Given the description of an element on the screen output the (x, y) to click on. 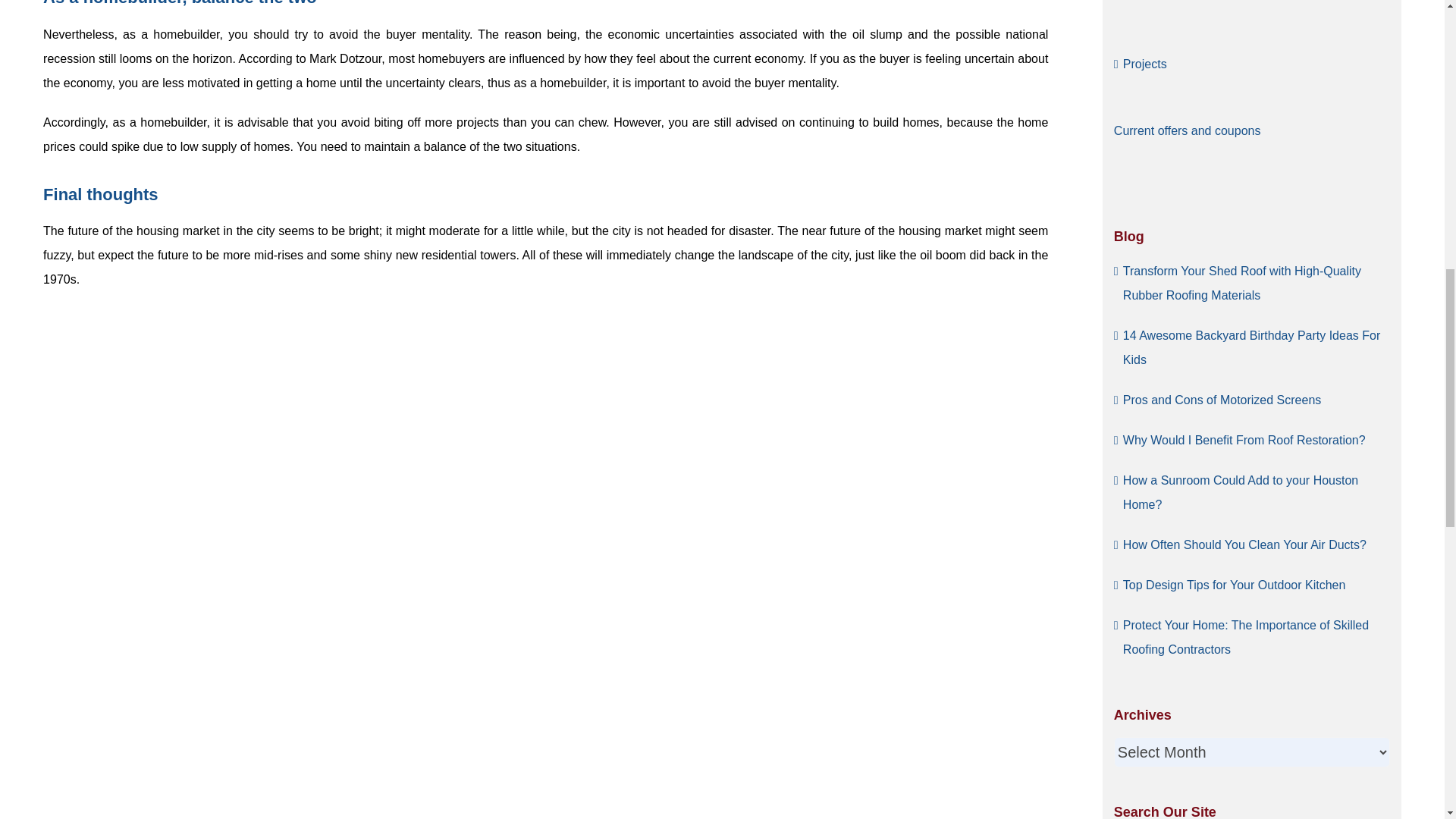
How Often Should You Clean Your Air Ducts? (1244, 544)
14 Awesome Backyard Birthday Party Ideas For Kids (1251, 347)
Pros and Cons of Motorized Screens (1221, 399)
Top Design Tips for Your Outdoor Kitchen (1233, 584)
Why Would I Benefit From Roof Restoration? (1243, 440)
Current offers and coupons (1186, 130)
Projects (1144, 63)
How a Sunroom Could Add to your Houston Home? (1240, 491)
